Given the description of an element on the screen output the (x, y) to click on. 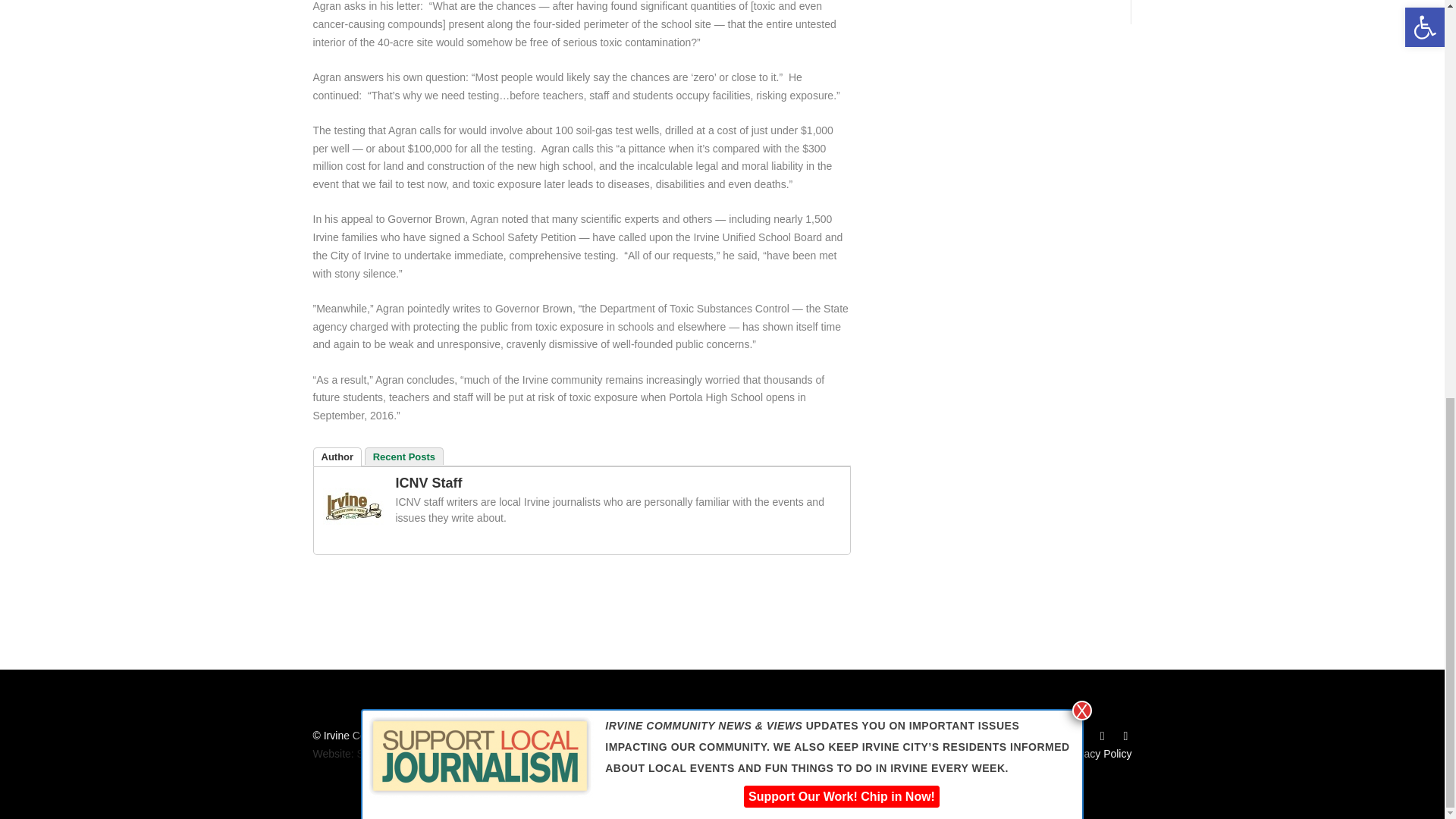
ICNV Staff (429, 482)
Recent Posts (404, 456)
Author (337, 456)
Website: Strategic Communication Consultants (423, 753)
ICNV Staff (353, 532)
